Given the description of an element on the screen output the (x, y) to click on. 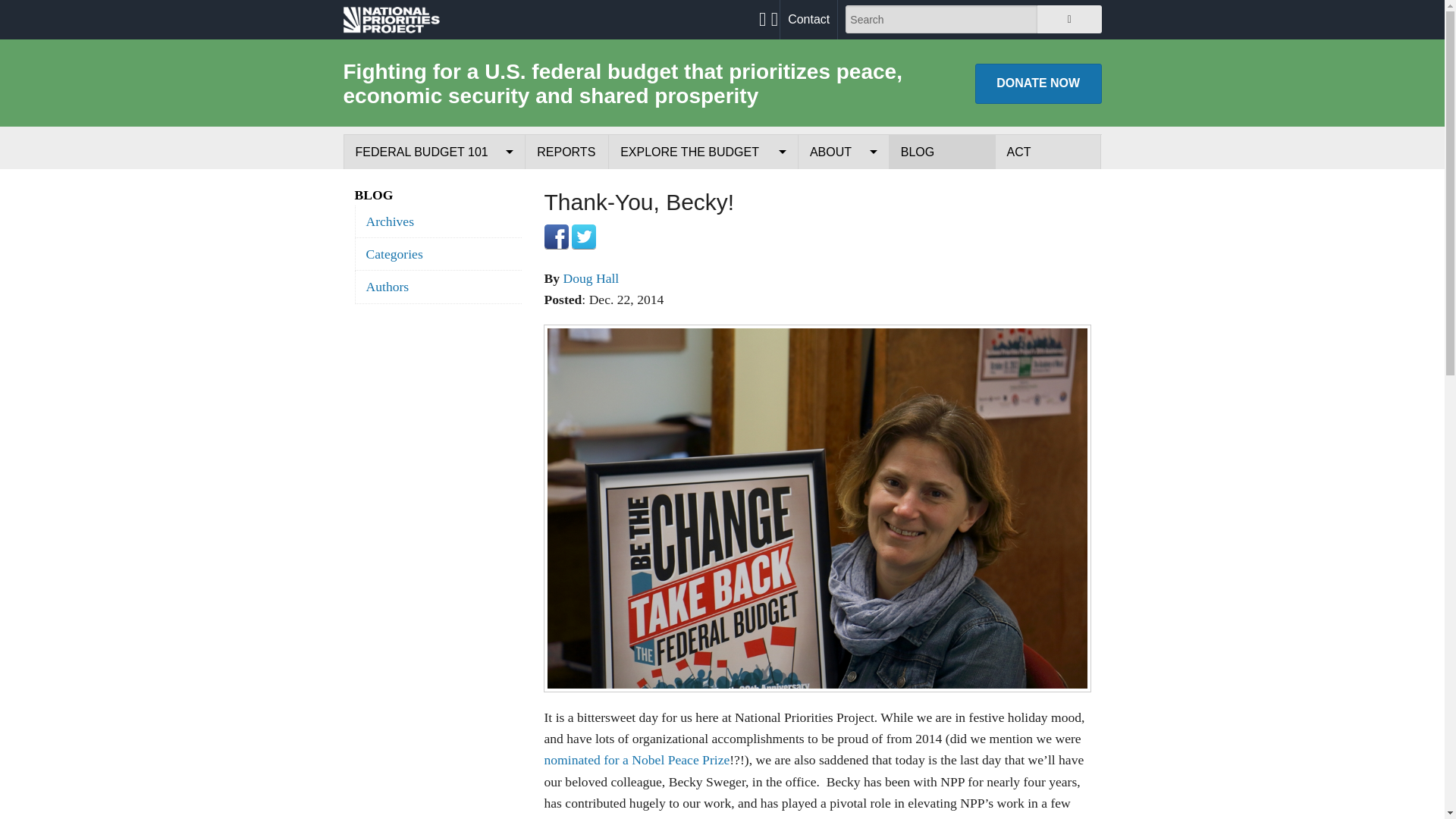
Mission (843, 186)
ACT (1047, 151)
ABOUT (842, 151)
Trade-Offs (703, 221)
Your Tax Receipt (703, 186)
BLOG (941, 151)
Borrowing and the Federal Debt (433, 291)
History (843, 221)
EXPLORE THE BUDGET (702, 151)
